Given the description of an element on the screen output the (x, y) to click on. 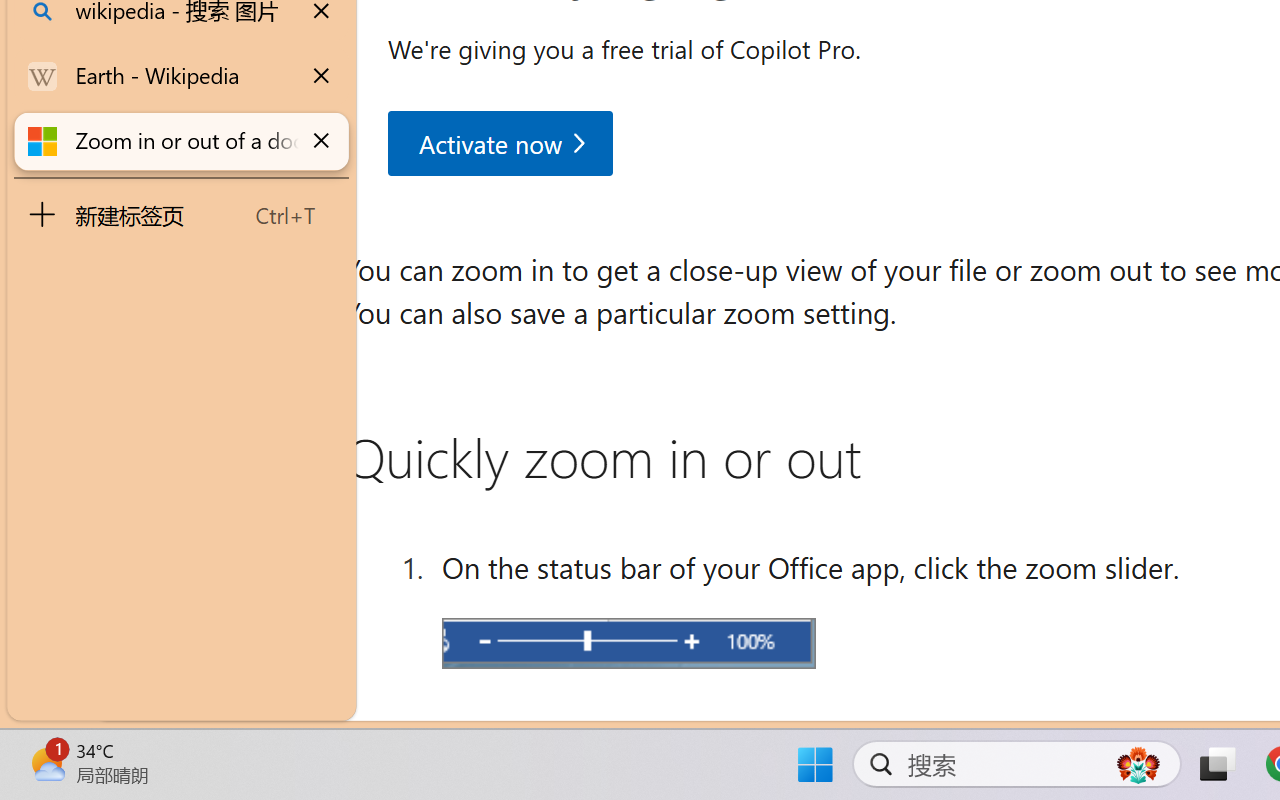
Zoom slider (628, 642)
